Given the description of an element on the screen output the (x, y) to click on. 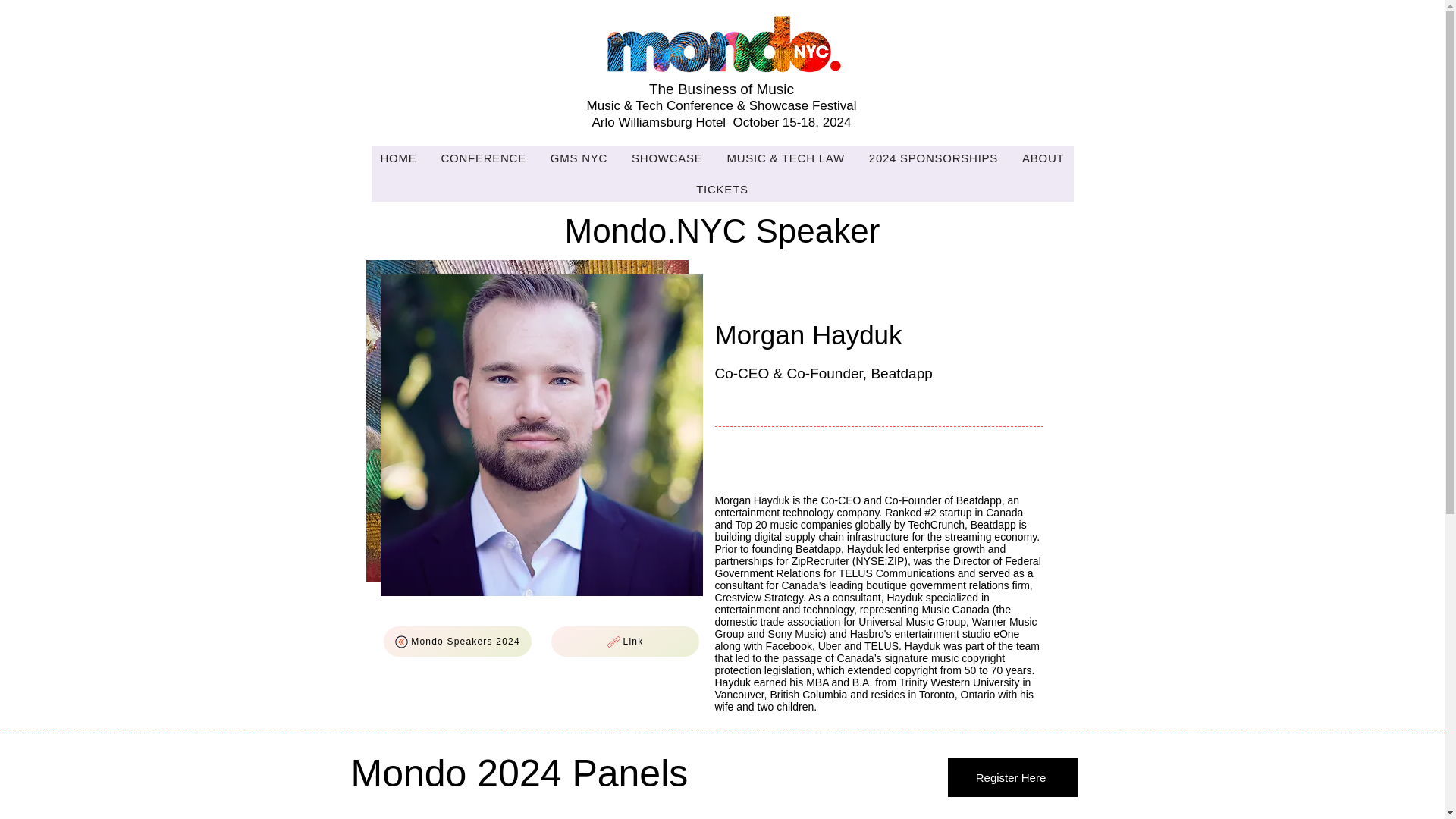
SHOWCASE (667, 157)
2024 SPONSORSHIPS (933, 157)
TICKETS (722, 188)
Link (624, 641)
Morgan Hayduk.jpg (541, 434)
Mondo Speakers 2024 (457, 641)
CONFERENCE (482, 157)
HOME (398, 157)
Register Here (1012, 777)
ABOUT (1043, 157)
